Given the description of an element on the screen output the (x, y) to click on. 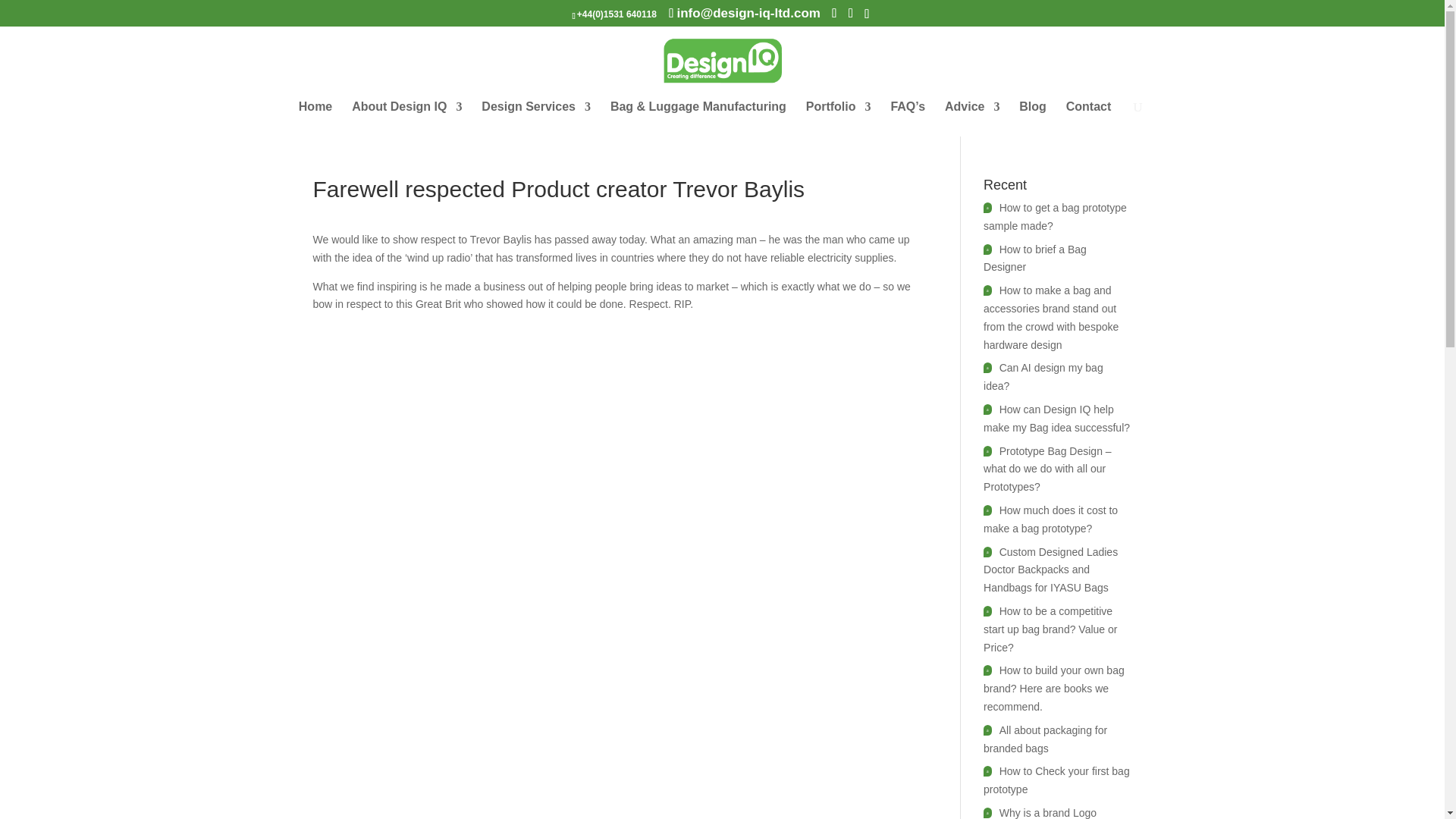
How to get a bag prototype sample made? (1055, 216)
About Design IQ (406, 118)
Contact (1088, 118)
How much does it cost to make a bag prototype? (1051, 519)
How can Design IQ help make my Bag idea successful? (1056, 418)
How to brief a Bag Designer (1035, 258)
Home (314, 118)
